Given the description of an element on the screen output the (x, y) to click on. 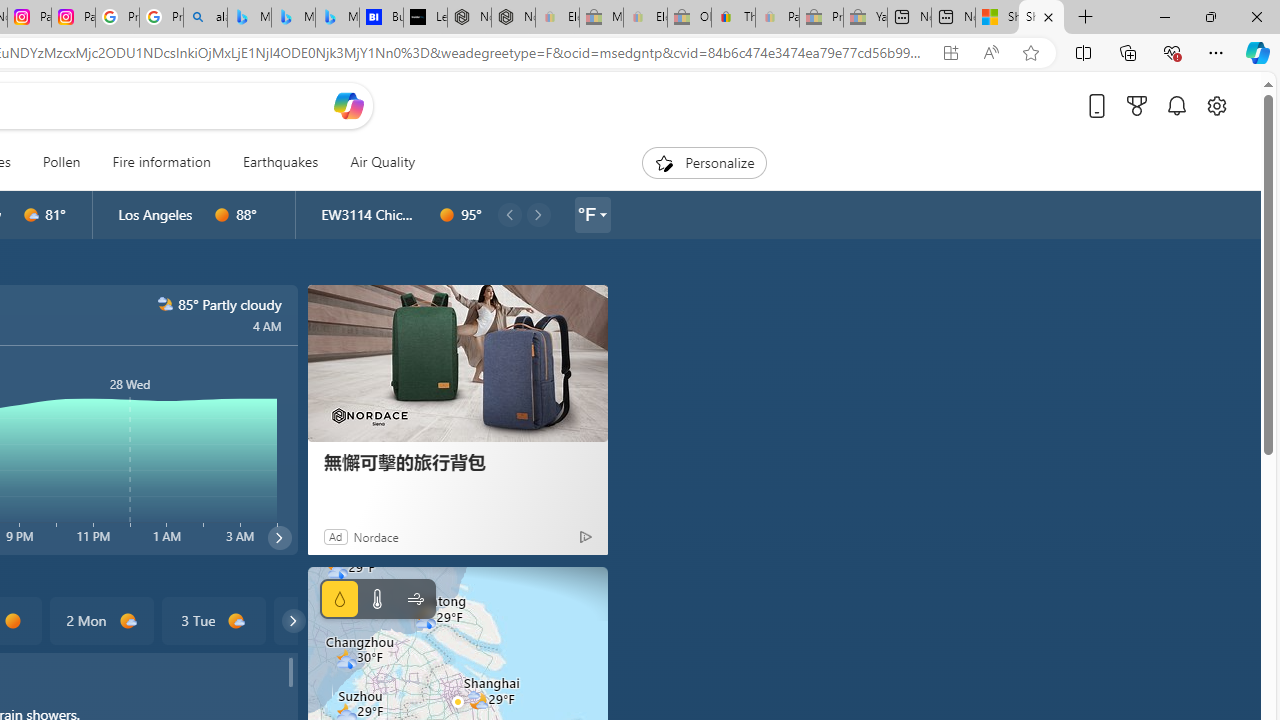
Fire information (161, 162)
locationBar/triangle (602, 214)
d0000 (11, 621)
Air Quality (382, 162)
Microsoft rewards (1137, 105)
common/carouselChevron (293, 620)
Temperature (376, 599)
